Given the description of an element on the screen output the (x, y) to click on. 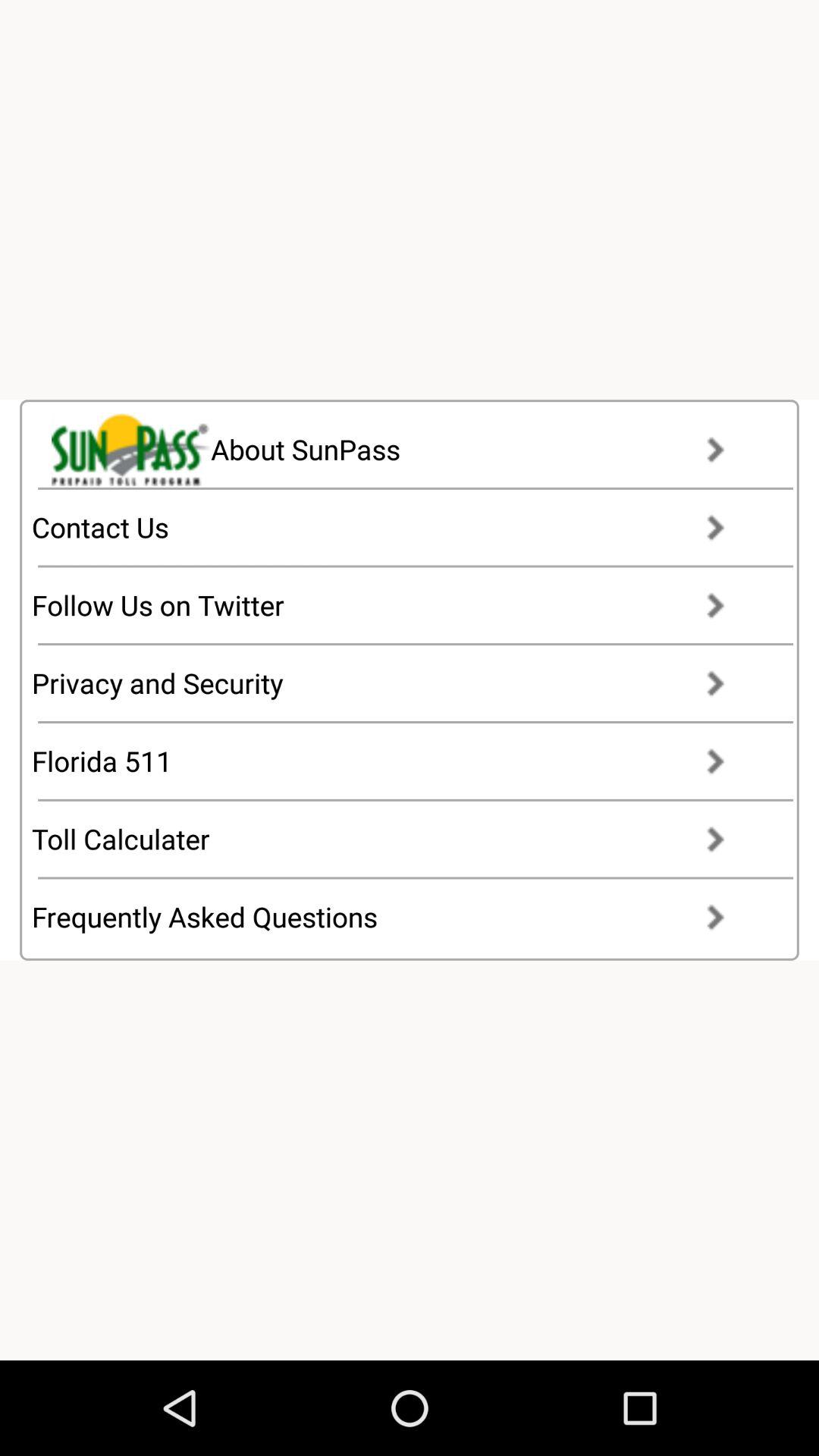
click the toll calculater (392, 839)
